Given the description of an element on the screen output the (x, y) to click on. 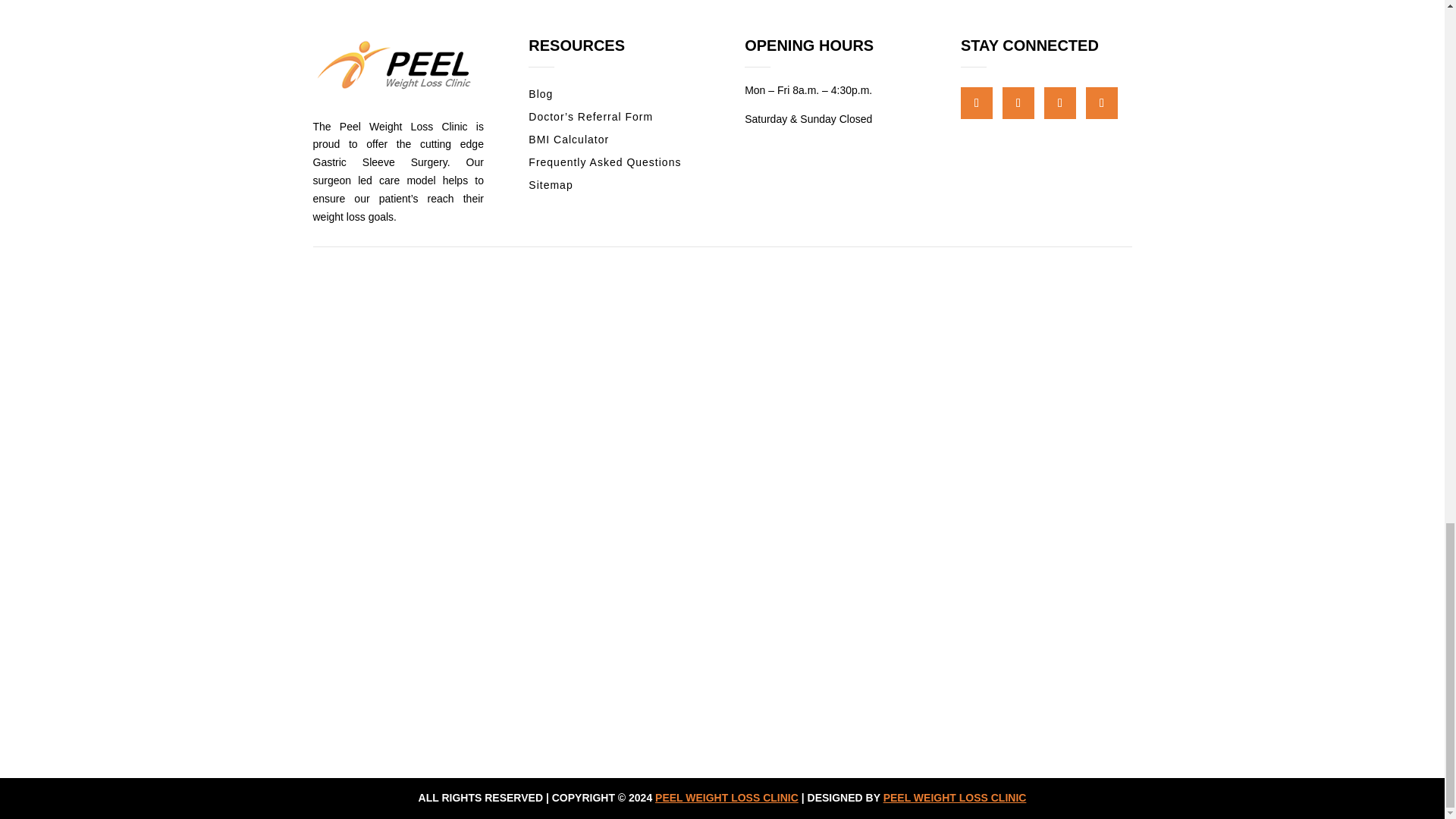
Peel Weight Loss Clinic (398, 65)
Follow on X (1059, 102)
Follow on Facebook (1018, 102)
Follow on Youtube (1102, 102)
PEEL WEIGHT LOSS CLINIC (954, 797)
PEEL WEIGHT LOSS CLINIC (726, 797)
Follow on Instagram (976, 102)
